Given the description of an element on the screen output the (x, y) to click on. 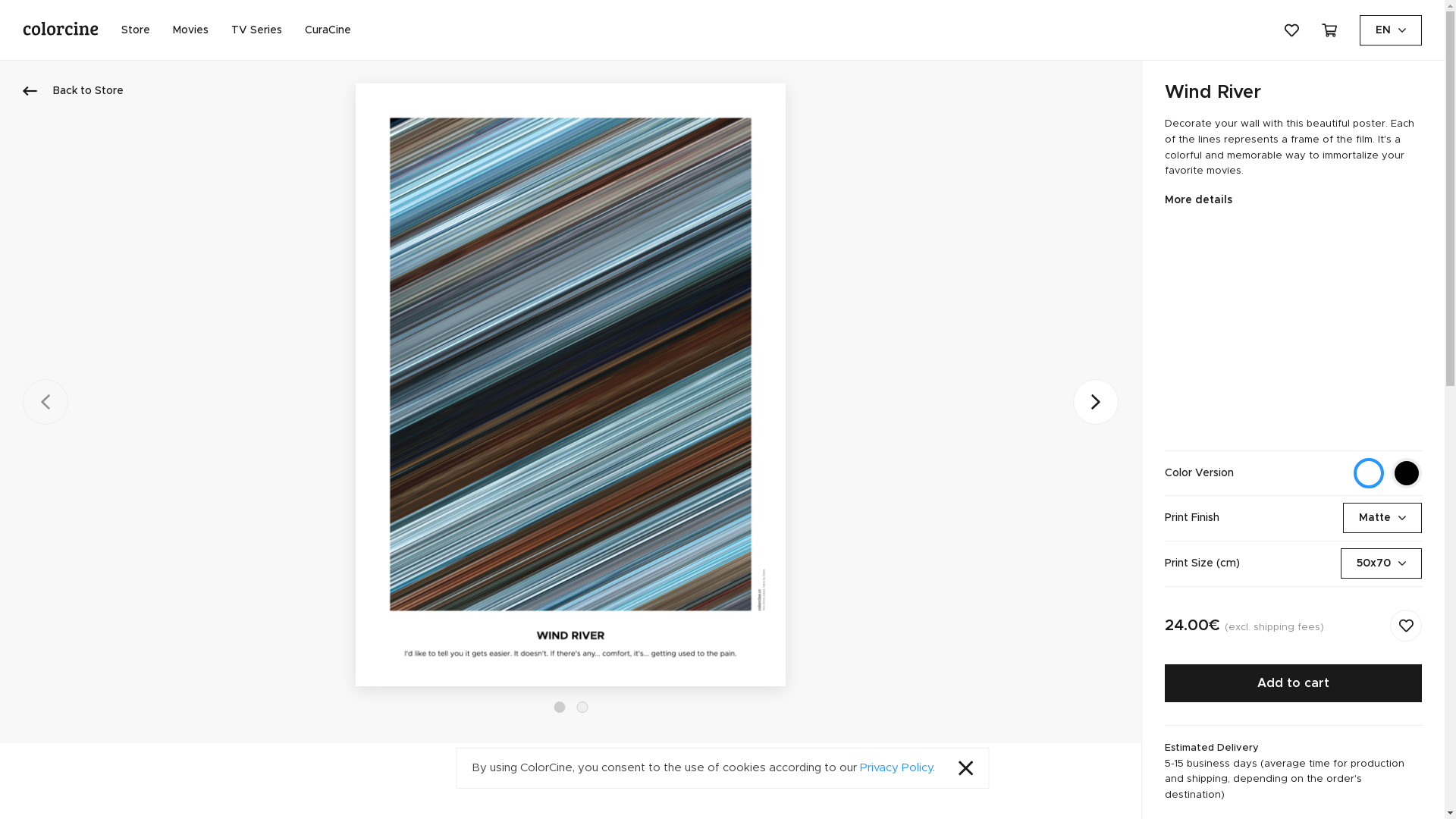
CuraCine Element type: text (327, 29)
